Given the description of an element on the screen output the (x, y) to click on. 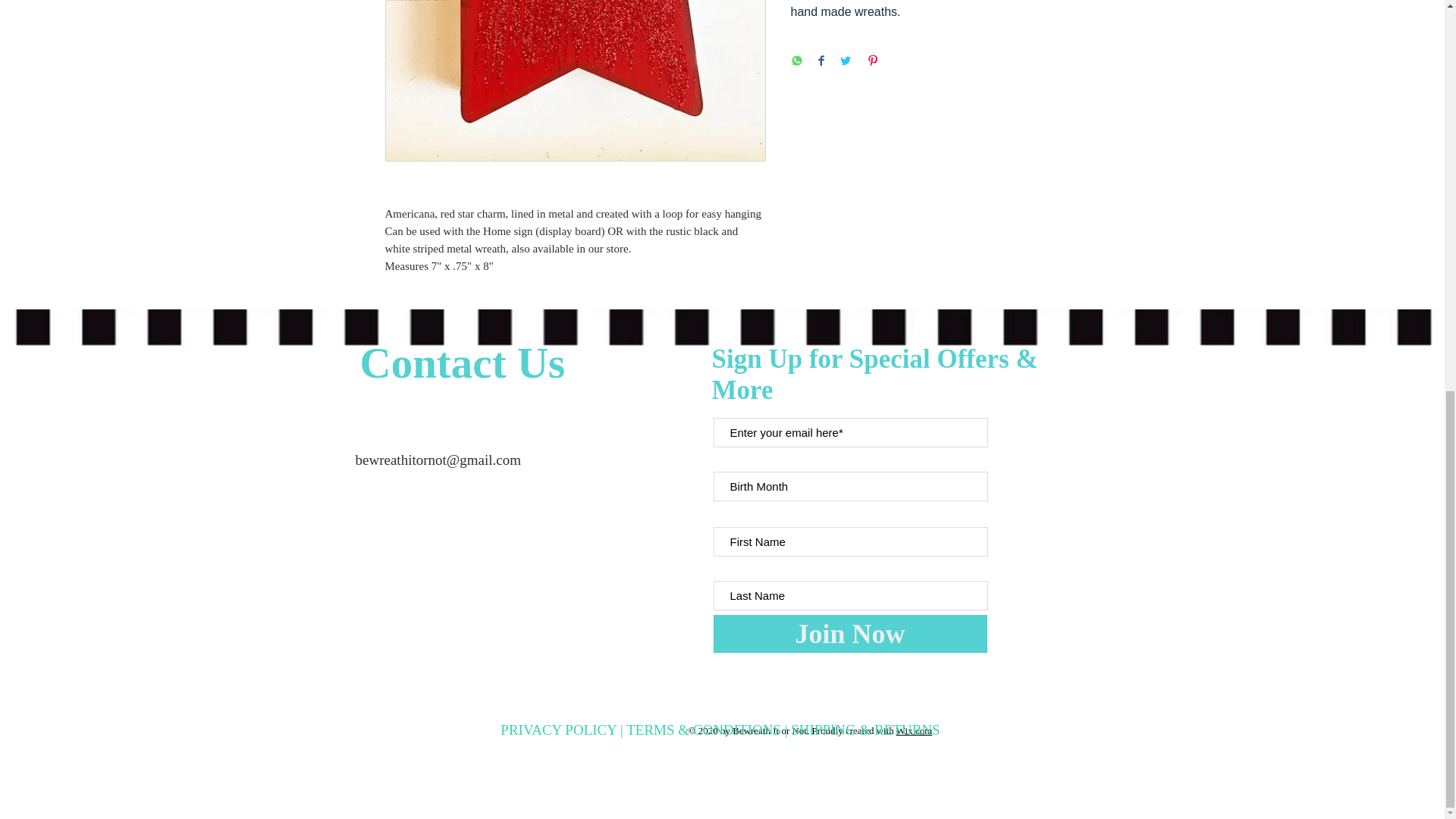
Join Now (850, 633)
Wix.com (914, 730)
PRIVACY POLICY (560, 729)
RETURNS (907, 729)
